Given the description of an element on the screen output the (x, y) to click on. 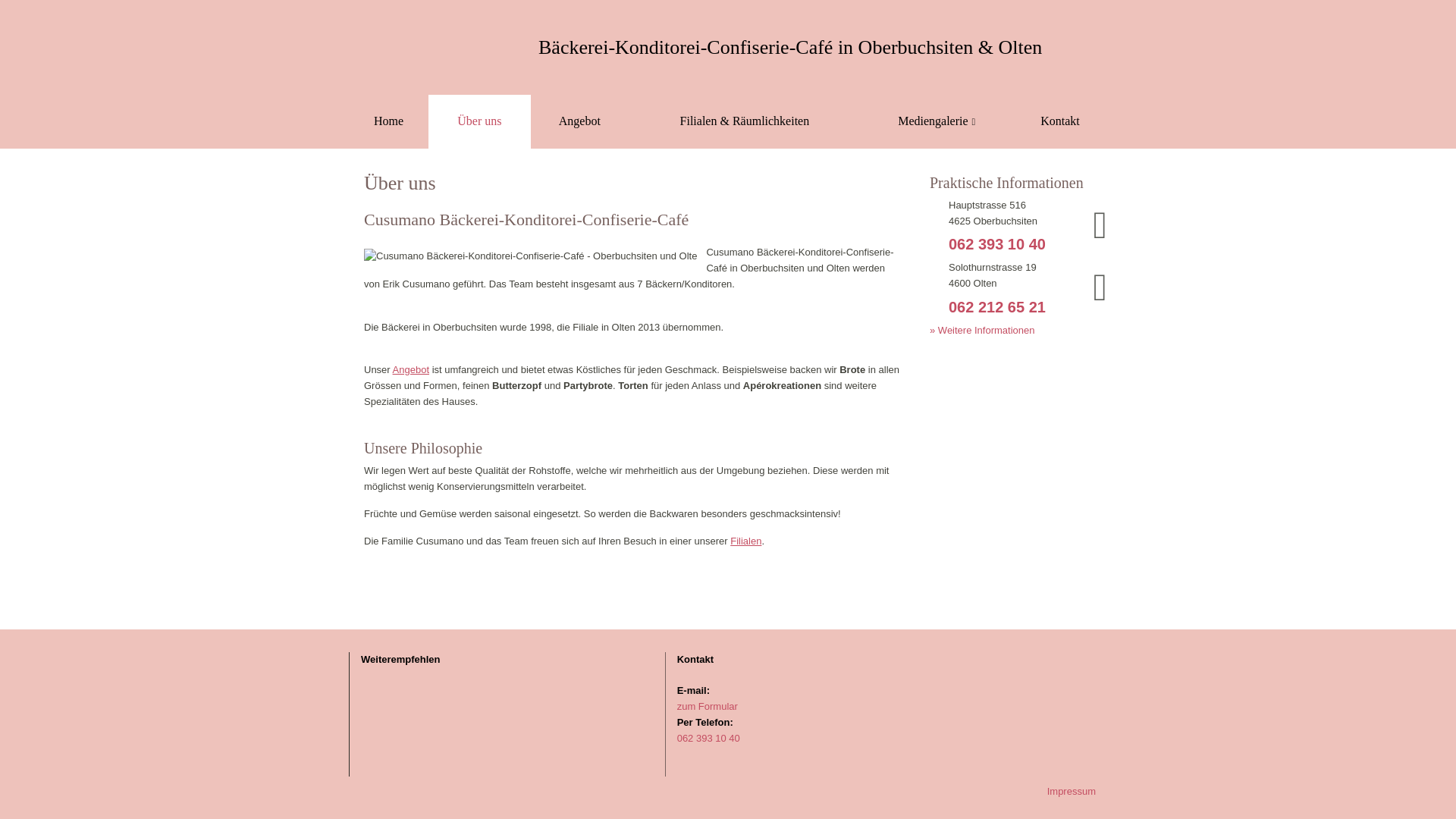
062 393 10 40 Element type: text (708, 737)
Kontakt Element type: text (1060, 121)
Angebot Element type: text (410, 369)
Mediengalerie Element type: text (936, 121)
062 393 10 40 Element type: text (1001, 244)
zum Formular Element type: text (707, 706)
Impressum Element type: text (1071, 791)
Home Element type: text (388, 121)
Angebot Element type: text (579, 121)
062 212 65 21 Element type: text (1001, 307)
Filialen Element type: text (745, 540)
